Given the description of an element on the screen output the (x, y) to click on. 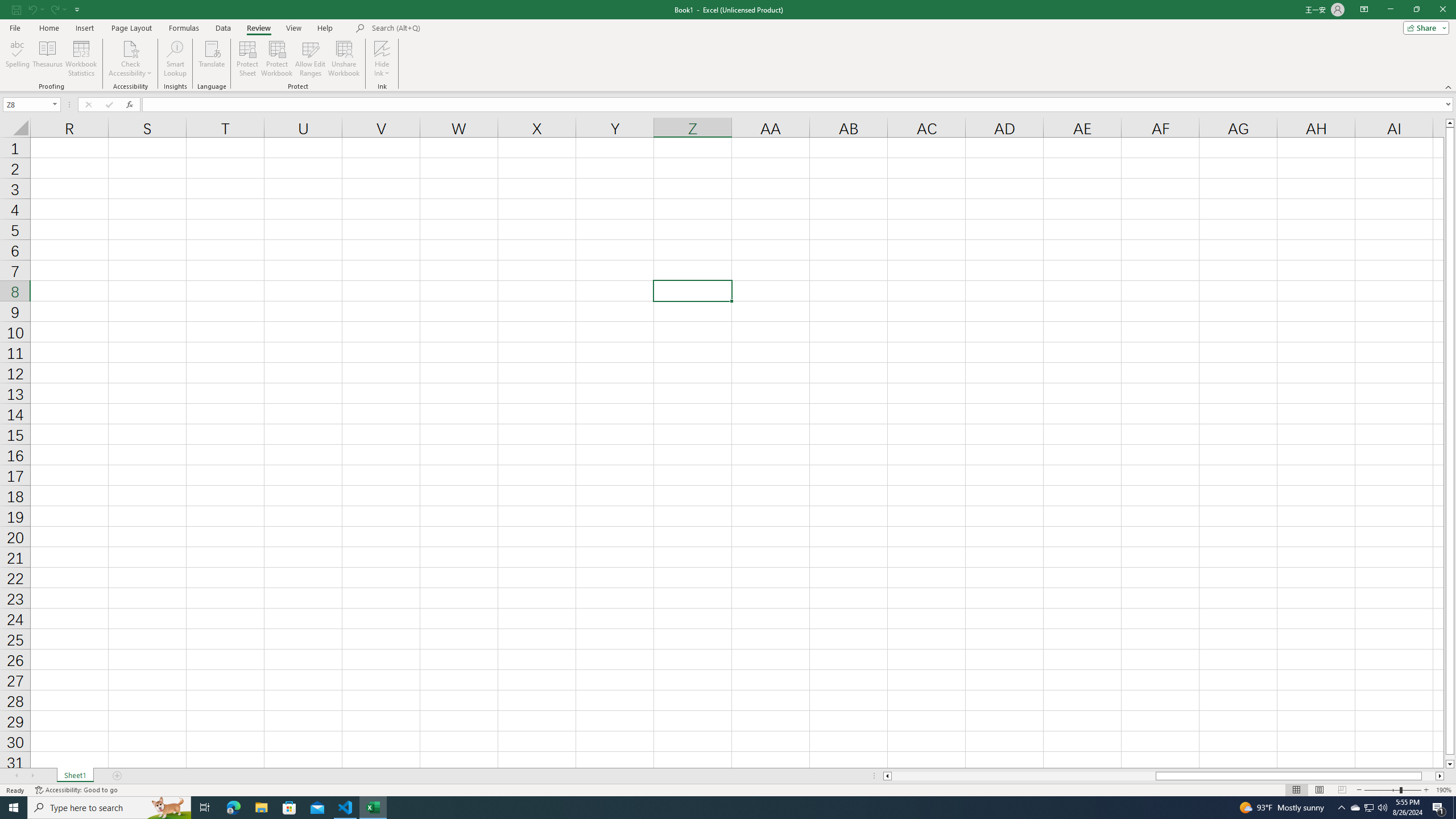
Unshare Workbook (344, 58)
Smart Lookup (175, 58)
Spelling... (17, 58)
